Given the description of an element on the screen output the (x, y) to click on. 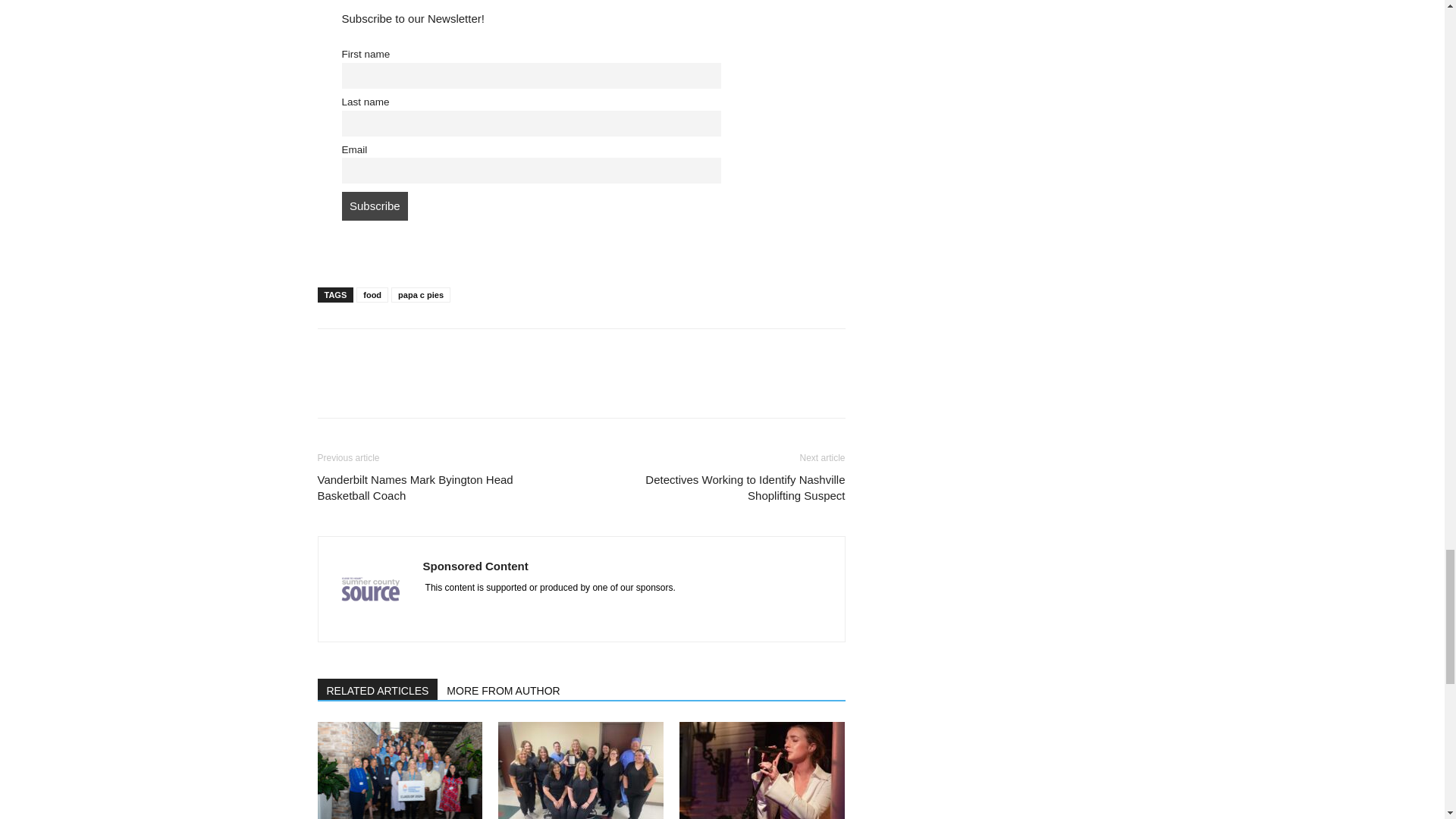
Subscribe (373, 205)
